Given the description of an element on the screen output the (x, y) to click on. 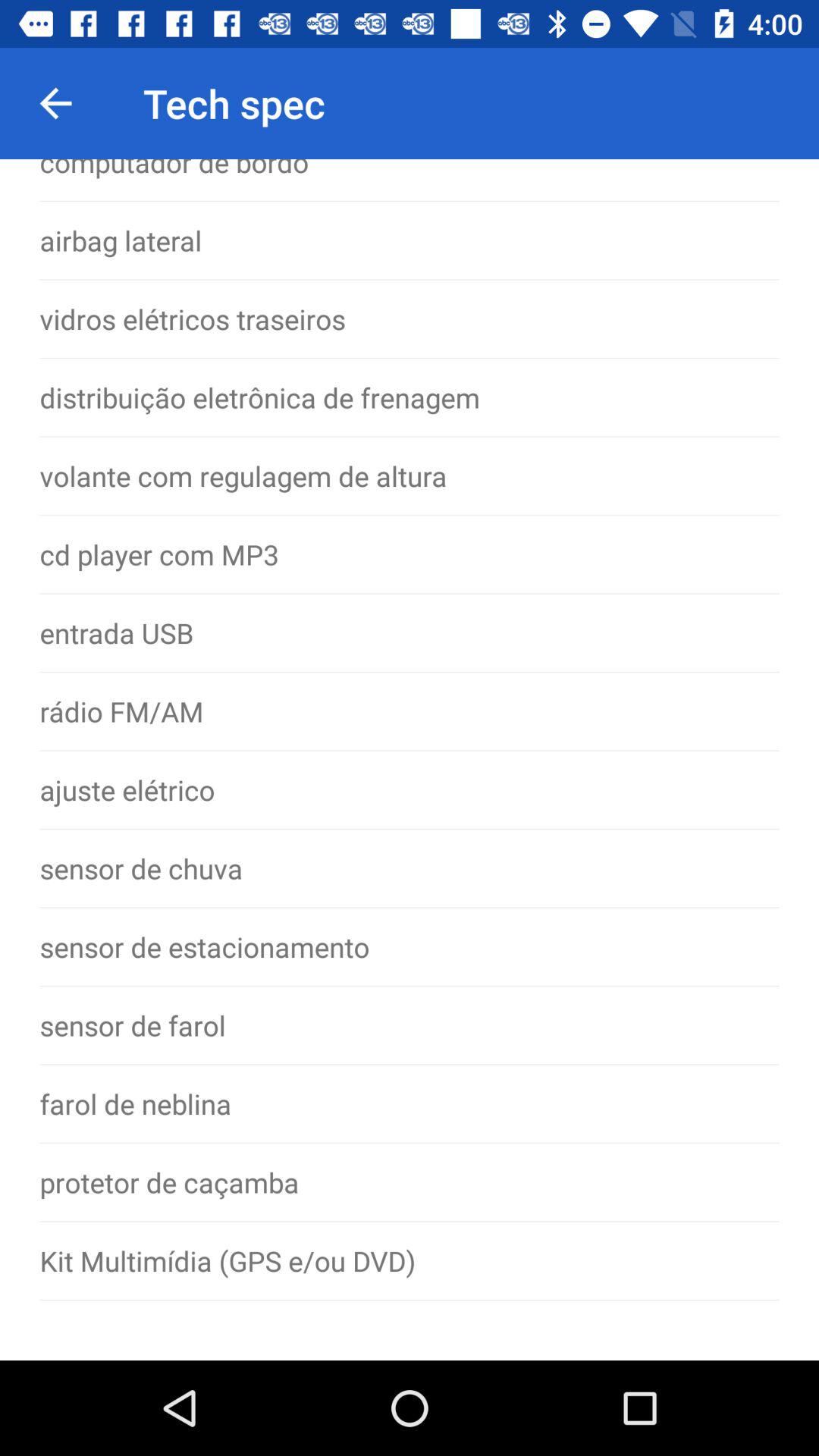
launch the icon above the computador de bordo icon (55, 103)
